Given the description of an element on the screen output the (x, y) to click on. 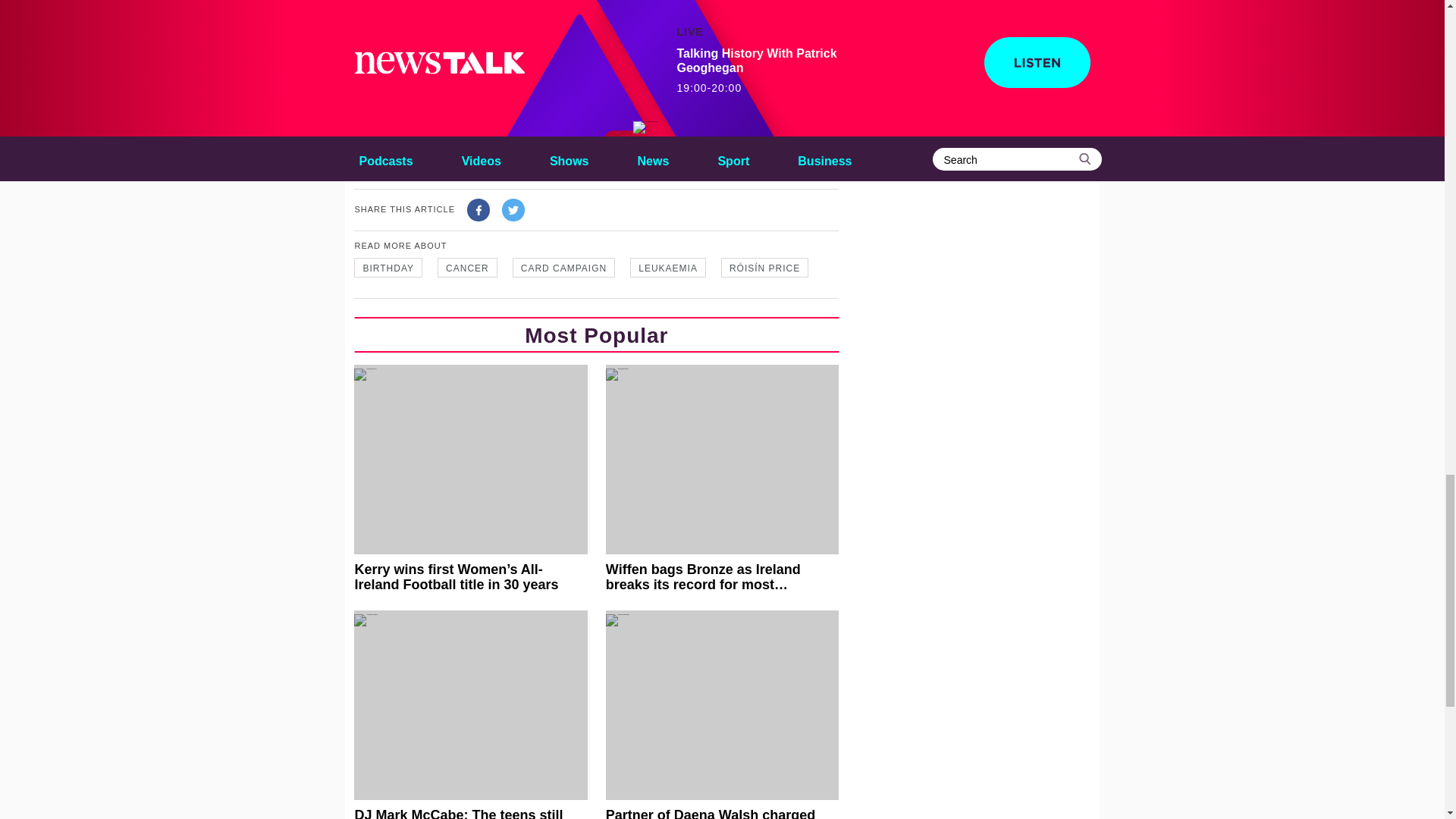
April 28, 2023 (617, 59)
visiting their website. (522, 158)
BIRTHDAY (387, 267)
CANCER (467, 267)
